Given the description of an element on the screen output the (x, y) to click on. 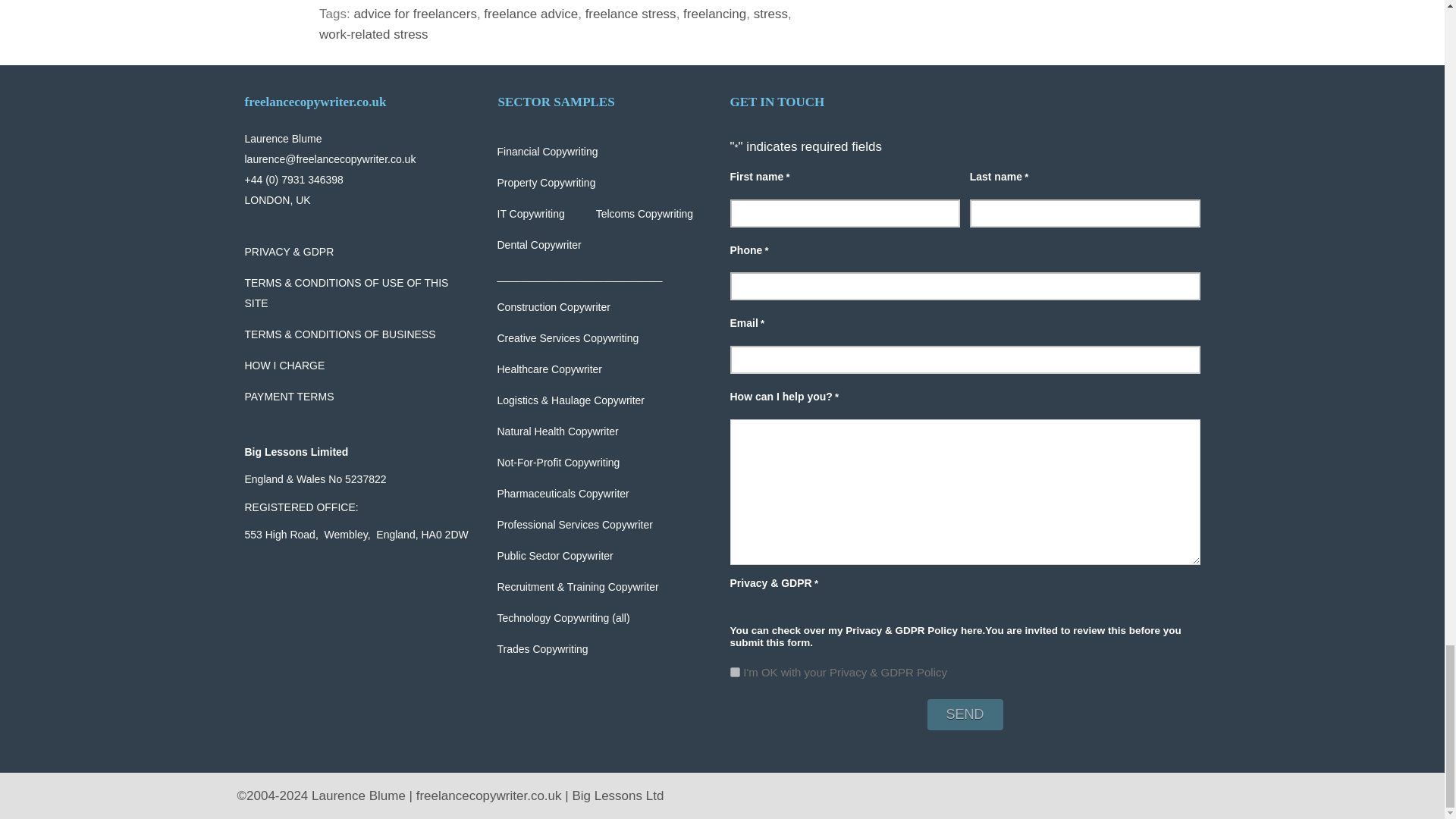
SEND (964, 714)
